Given the description of an element on the screen output the (x, y) to click on. 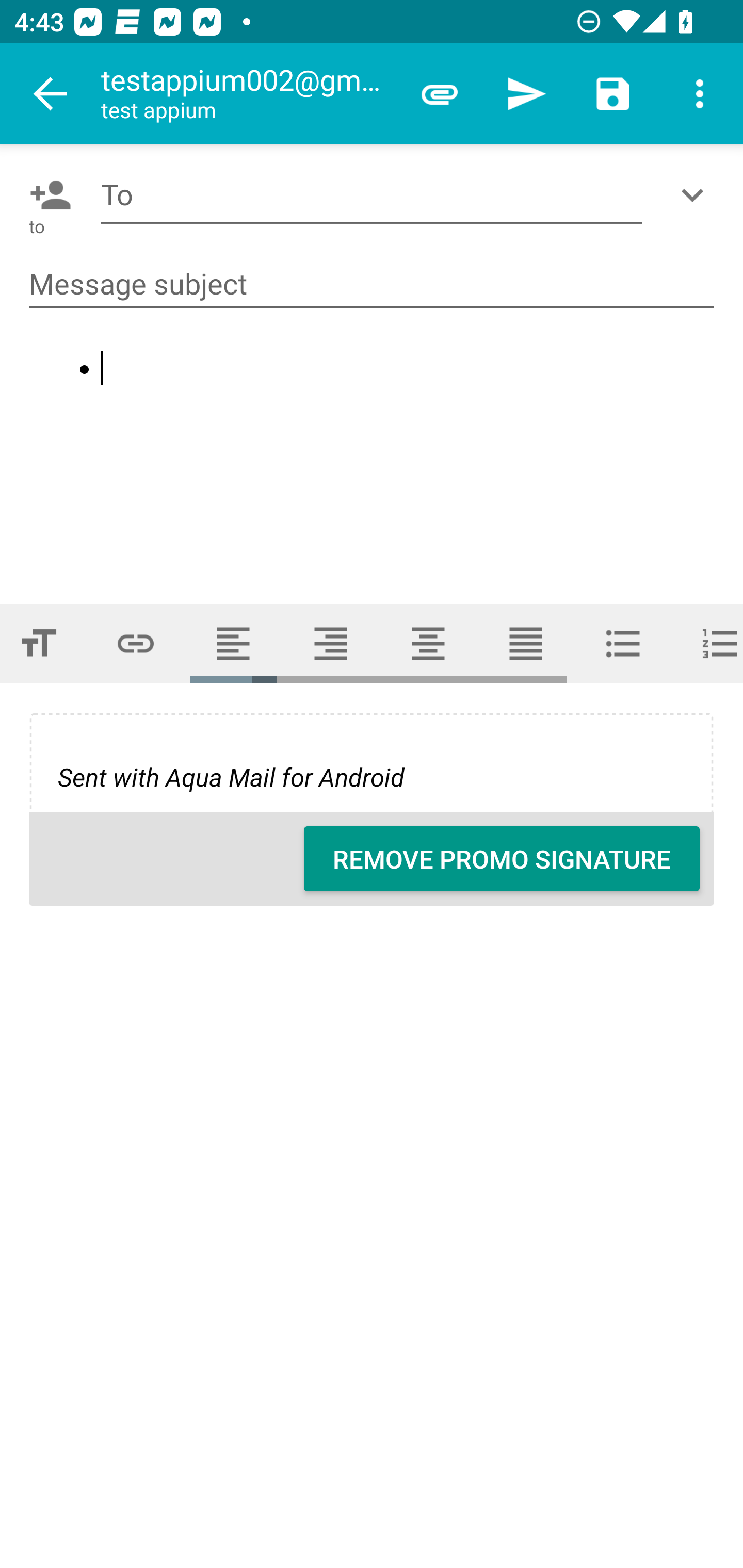
Navigate up (50, 93)
testappium002@gmail.com test appium (248, 93)
Attach (439, 93)
Send (525, 93)
Save (612, 93)
More options (699, 93)
Pick contact: To (46, 195)
Show/Add CC/BCC (696, 195)
To (371, 195)
Message subject (371, 284)
• 
 (372, 459)
Font size (43, 643)
Set link (135, 643)
Align left (233, 643)
Align right (330, 643)
Align center (428, 643)
Full justify (526, 643)
List (bulleted) (623, 643)
List (numbered) (707, 643)
REMOVE PROMO SIGNATURE (501, 858)
